Given the description of an element on the screen output the (x, y) to click on. 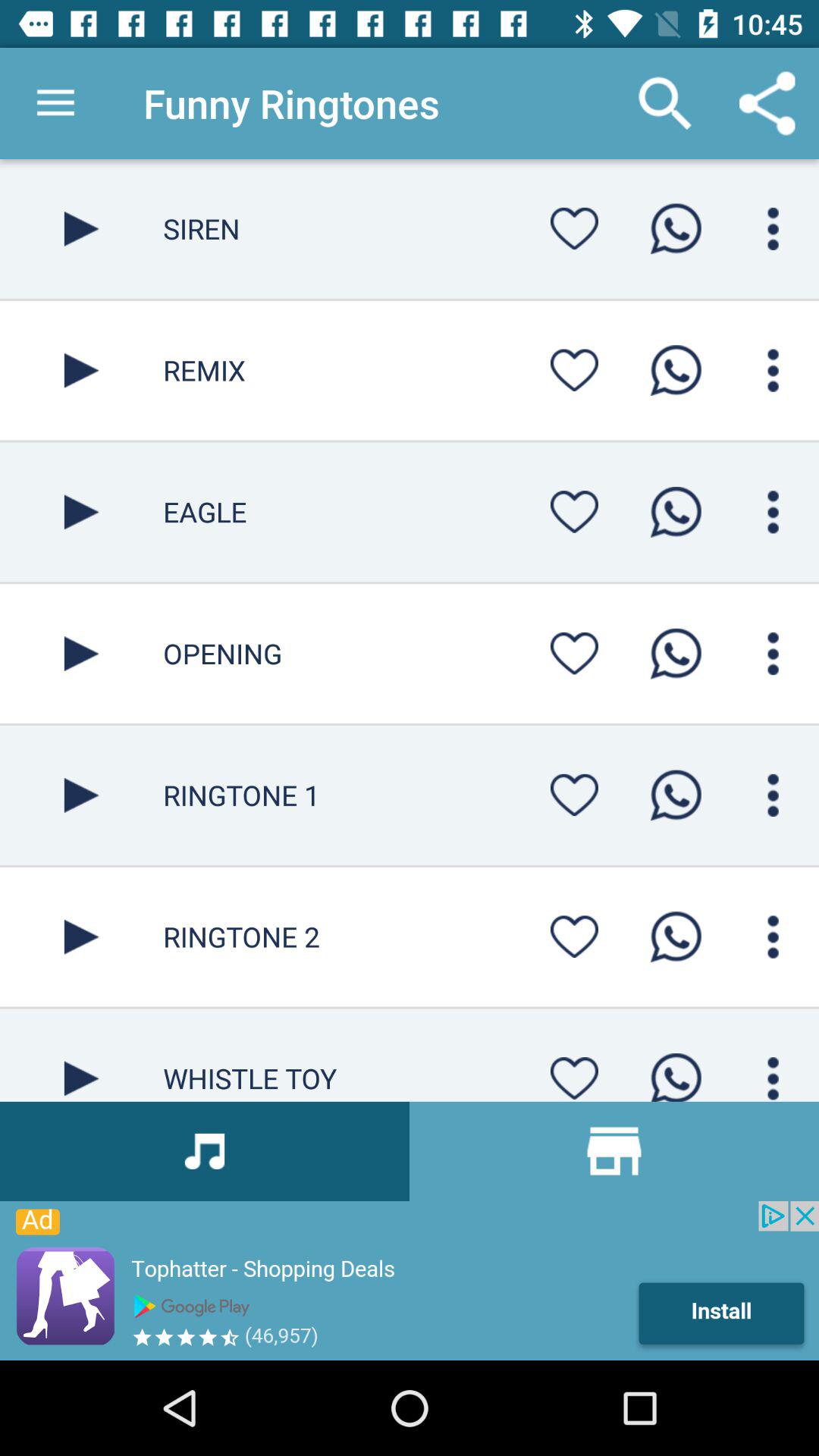
call button (675, 936)
